Given the description of an element on the screen output the (x, y) to click on. 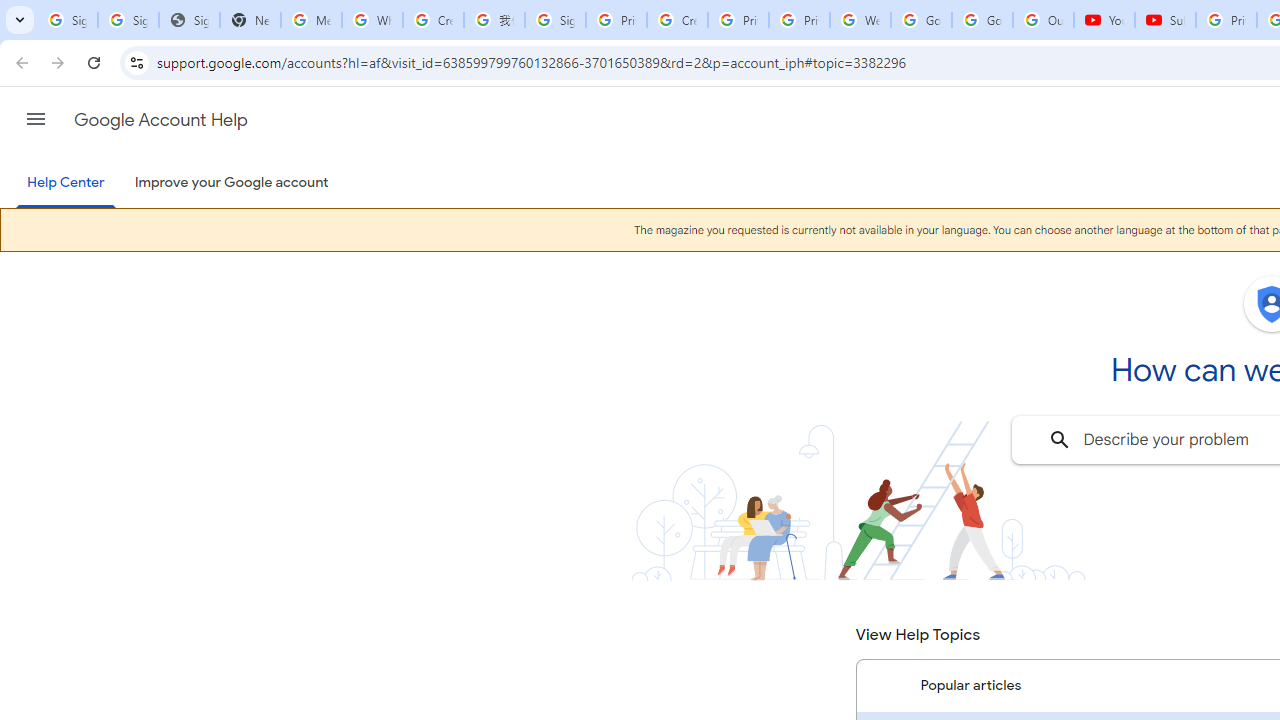
New Tab (250, 20)
YouTube (1104, 20)
Sign in - Google Accounts (67, 20)
